Given the description of an element on the screen output the (x, y) to click on. 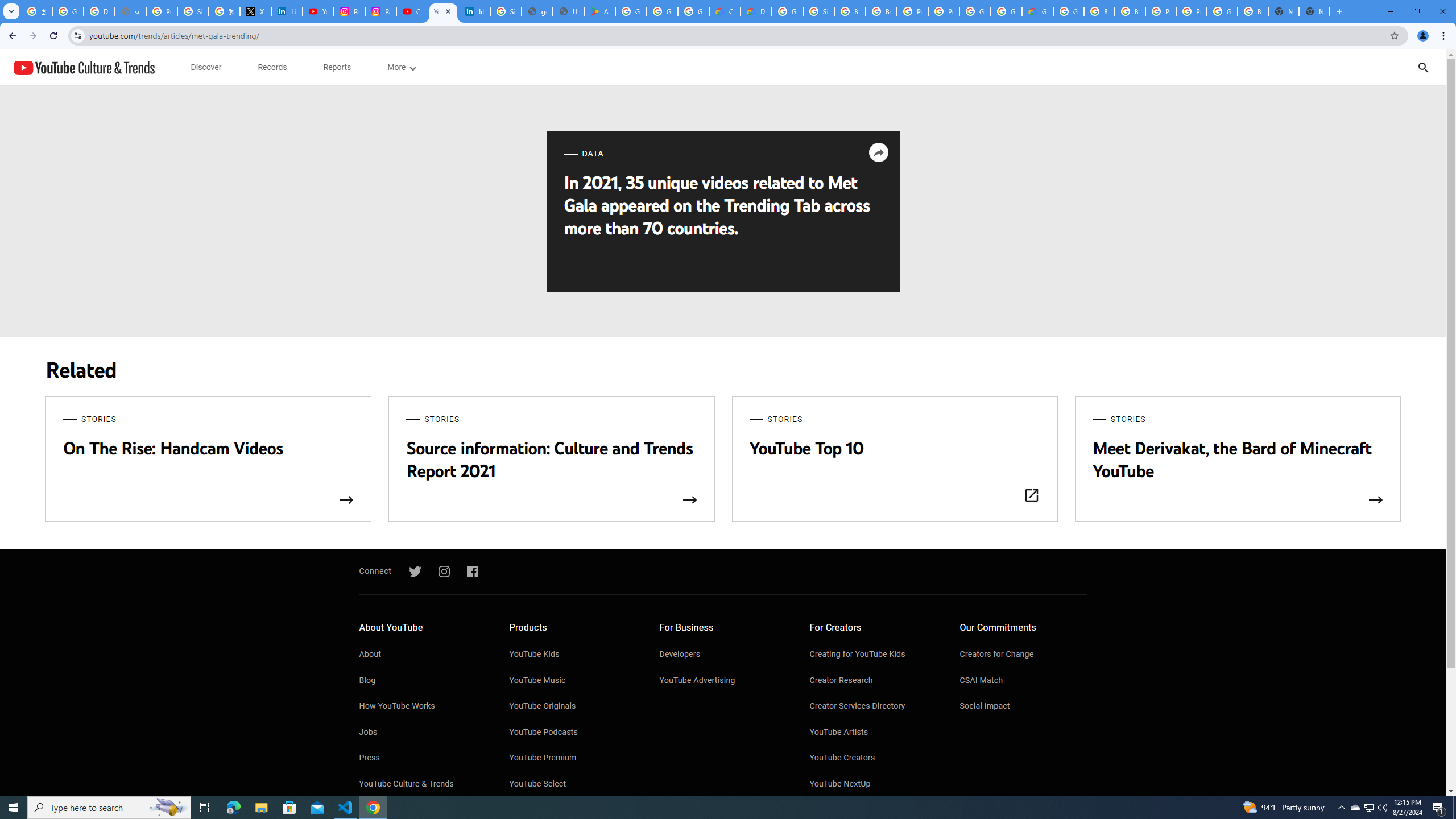
subnav-More menupopup (401, 67)
About (422, 655)
STORIES On The Rise: Handcam Videos (208, 459)
YouTube Content Monetization Policies - How YouTube Works (318, 11)
Privacy Help Center - Policies Help (161, 11)
Customer Care | Google Cloud (724, 11)
Google Cloud Platform (1222, 11)
Google Workspace - Specific Terms (662, 11)
CSAI Match (1023, 681)
subnav-Reports menupopup (336, 67)
